Given the description of an element on the screen output the (x, y) to click on. 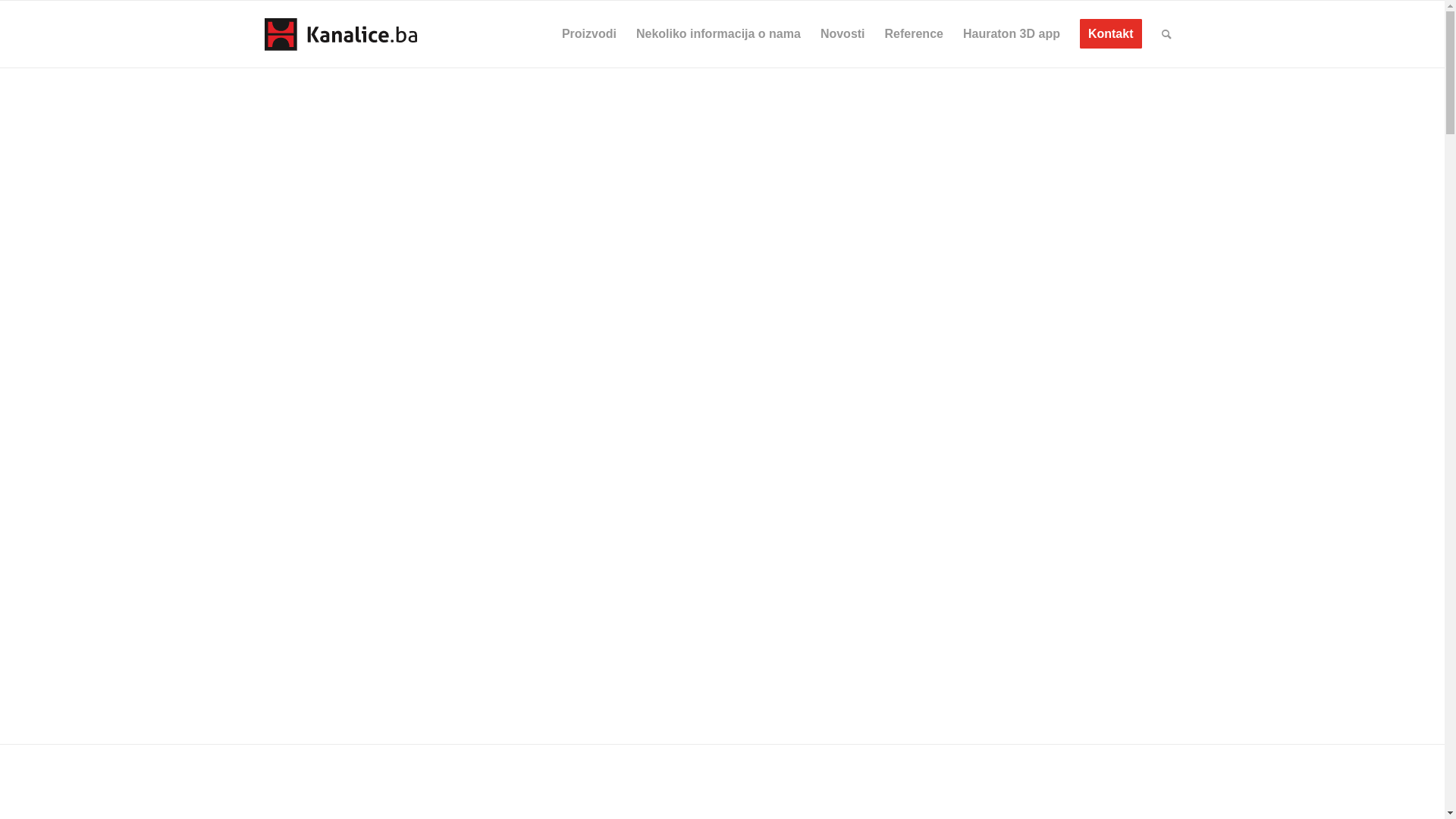
Nekoliko informacija o nama Element type: text (718, 33)
Proizvodi Element type: text (589, 33)
Hauraton 3D app Element type: text (1011, 33)
Reference Element type: text (914, 33)
Kontakt Element type: text (1110, 33)
Novosti Element type: text (842, 33)
